Given the description of an element on the screen output the (x, y) to click on. 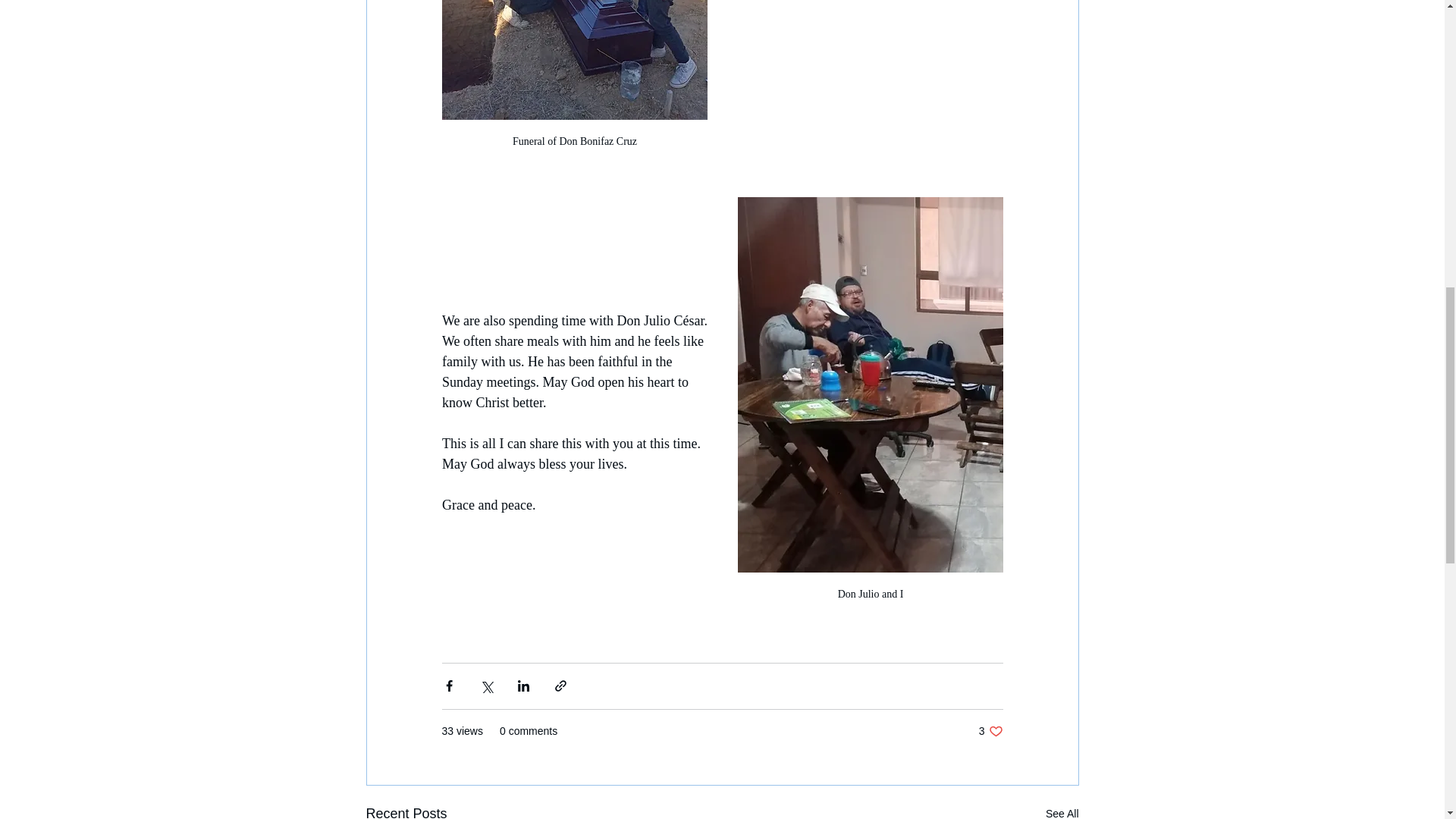
See All (990, 730)
